Given the description of an element on the screen output the (x, y) to click on. 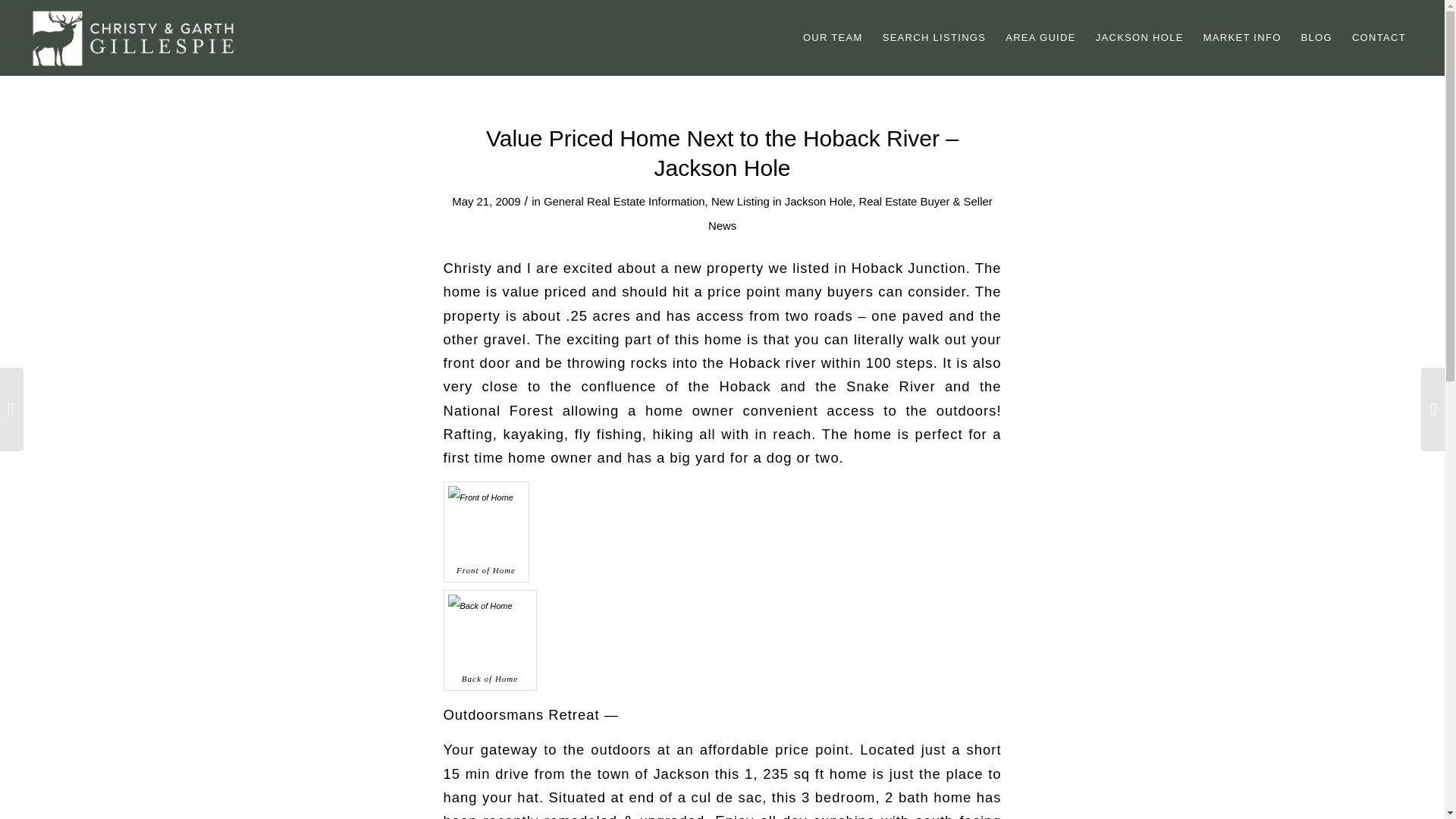
front-main-large1 (486, 521)
OUR TEAM (832, 38)
CONTACT (1378, 38)
SEARCH LISTINGS (933, 38)
AREA GUIDE (1039, 38)
back-cropped-large1 (489, 629)
JACKSON HOLE (1139, 38)
MARKET INFO (1242, 38)
New Listing in Jackson Hole (781, 201)
General Real Estate Information (623, 201)
